Given the description of an element on the screen output the (x, y) to click on. 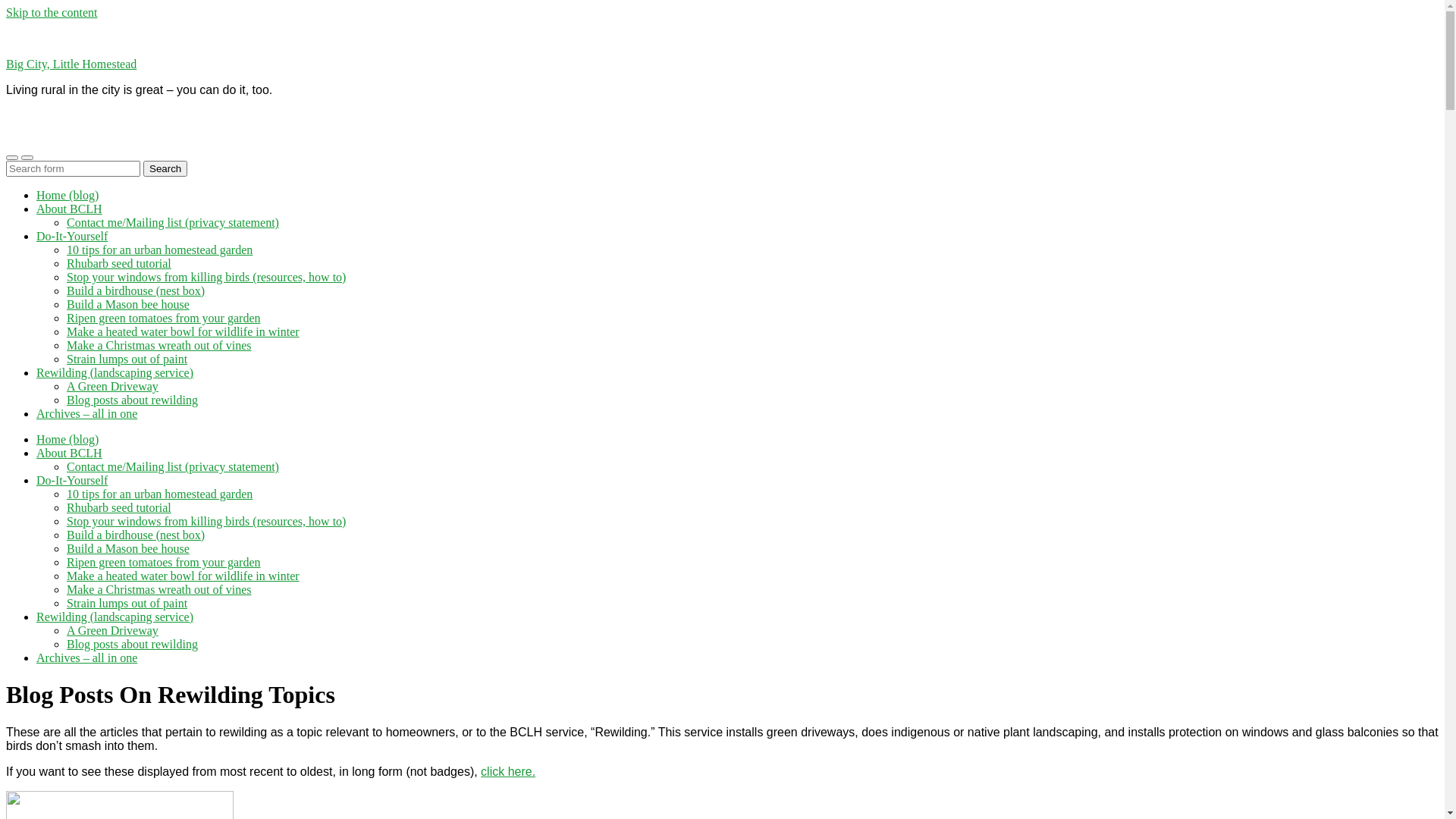
Rewilding (landscaping service) Element type: text (114, 372)
Big City, Little Homestead Element type: text (71, 63)
Build a Mason bee house Element type: text (127, 304)
Rewilding (landscaping service) Element type: text (114, 616)
Strain lumps out of paint Element type: text (126, 358)
Search Element type: text (165, 168)
Build a birdhouse (nest box) Element type: text (135, 290)
Do-It-Yourself Element type: text (71, 235)
A Green Driveway Element type: text (112, 630)
Make a Christmas wreath out of vines Element type: text (158, 344)
Do-It-Yourself Element type: text (71, 479)
Contact me/Mailing list (privacy statement) Element type: text (172, 222)
Build a Mason bee house Element type: text (127, 548)
Toggle search field Element type: text (27, 157)
Ripen green tomatoes from your garden Element type: text (163, 317)
Make a heated water bowl for wildlife in winter Element type: text (182, 575)
Blog posts about rewilding Element type: text (131, 399)
Rhubarb seed tutorial Element type: text (118, 507)
Blog posts about rewilding Element type: text (131, 643)
10 tips for an urban homestead garden Element type: text (159, 249)
About BCLH Element type: text (69, 452)
About BCLH Element type: text (69, 208)
Stop your windows from killing birds (resources, how to) Element type: text (205, 276)
Make a Christmas wreath out of vines Element type: text (158, 589)
10 tips for an urban homestead garden Element type: text (159, 493)
Toggle mobile menu Element type: text (12, 157)
Make a heated water bowl for wildlife in winter Element type: text (182, 331)
Home (blog) Element type: text (67, 194)
A Green Driveway Element type: text (112, 385)
Skip to the content Element type: text (51, 12)
Rhubarb seed tutorial Element type: text (118, 263)
click here. Element type: text (507, 771)
Contact me/Mailing list (privacy statement) Element type: text (172, 466)
Stop your windows from killing birds (resources, how to) Element type: text (205, 520)
Ripen green tomatoes from your garden Element type: text (163, 561)
Home (blog) Element type: text (67, 439)
Build a birdhouse (nest box) Element type: text (135, 534)
Strain lumps out of paint Element type: text (126, 602)
